Given the description of an element on the screen output the (x, y) to click on. 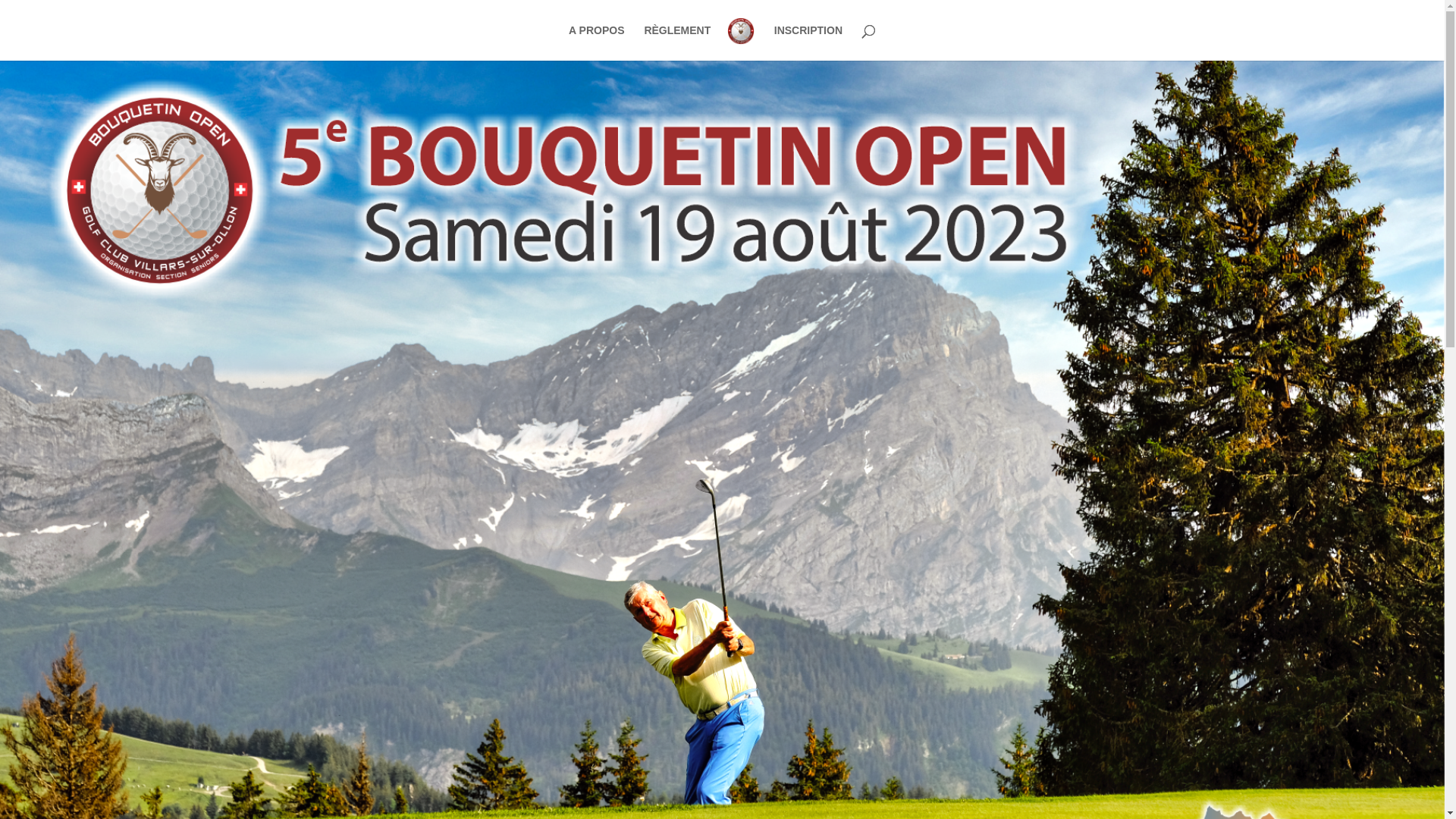
A PROPOS Element type: text (596, 42)
INSCRIPTION Element type: text (808, 42)
